Given the description of an element on the screen output the (x, y) to click on. 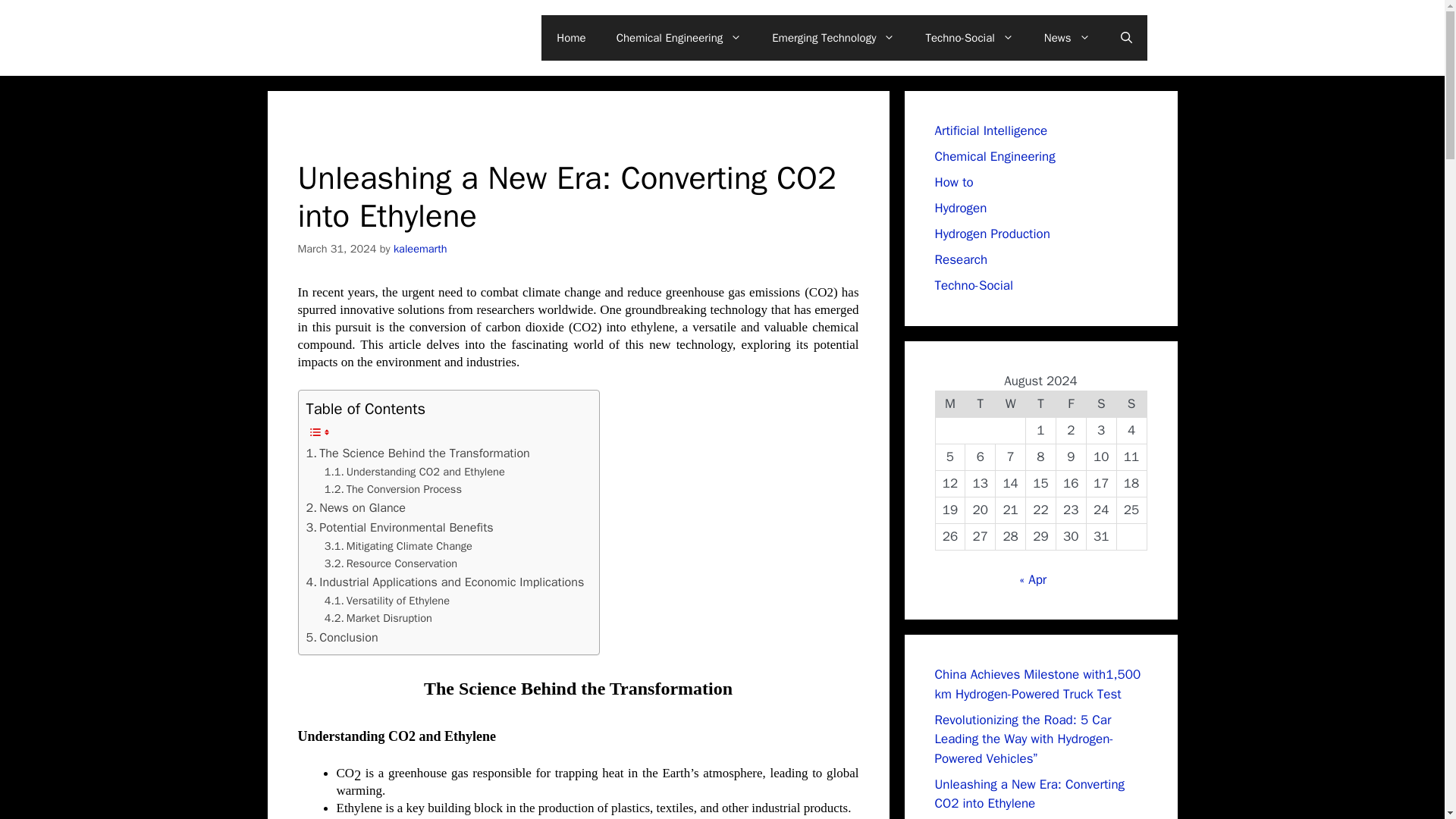
Mitigating Climate Change (397, 546)
Market Disruption (378, 618)
Chemical Engineering (679, 37)
Techno-Social (968, 37)
The Conversion Process (392, 488)
Tuesday (980, 404)
News on Glance (355, 507)
Potential Environmental Benefits (399, 527)
Mitigating Climate Change (397, 546)
